Given the description of an element on the screen output the (x, y) to click on. 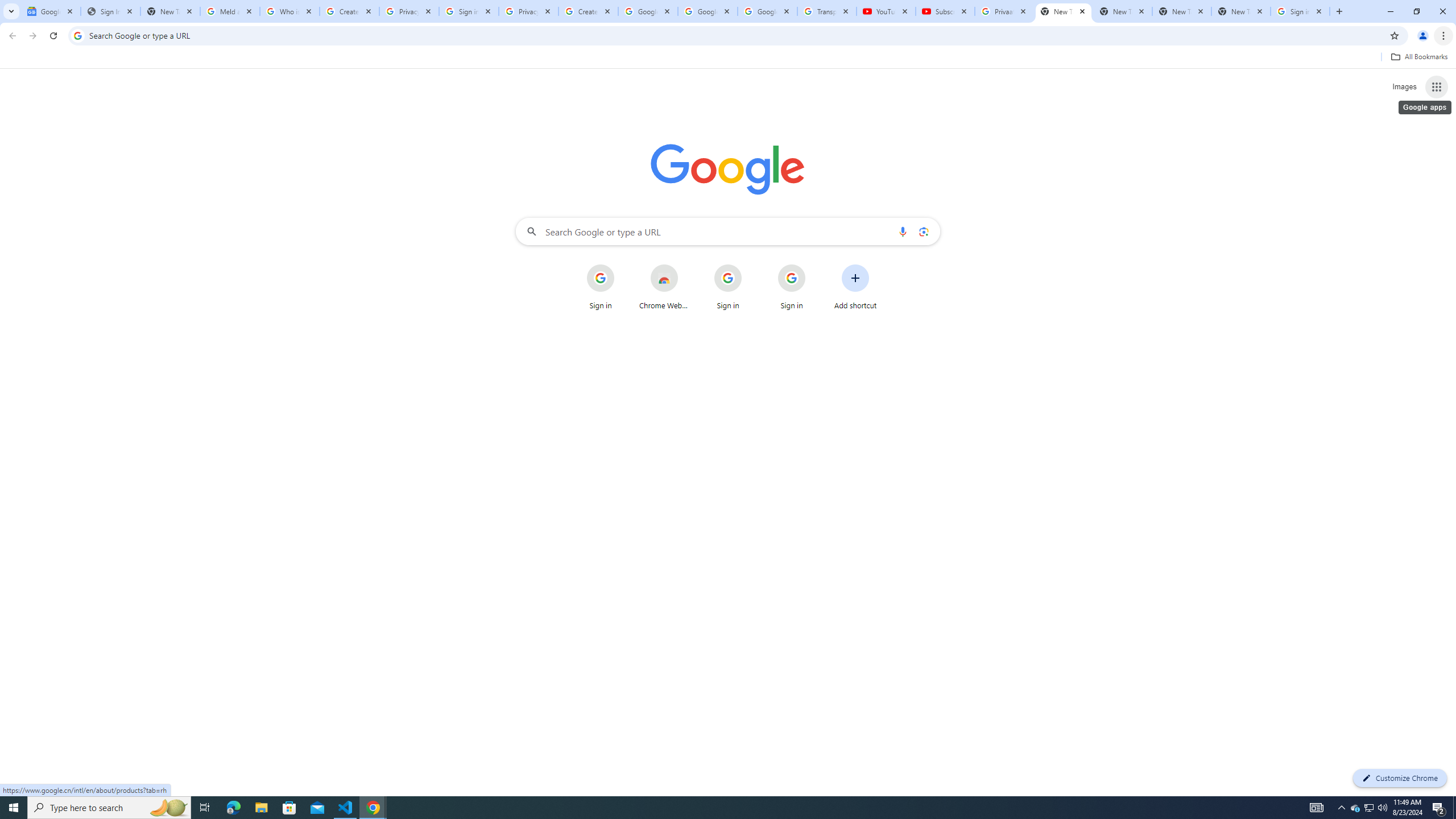
Search Google or type a URL (727, 230)
New Tab (1063, 11)
Sign in - Google Accounts (1300, 11)
Create your Google Account (588, 11)
More actions for Sign in shortcut (814, 265)
Create your Google Account (349, 11)
Subscriptions - YouTube (944, 11)
